Given the description of an element on the screen output the (x, y) to click on. 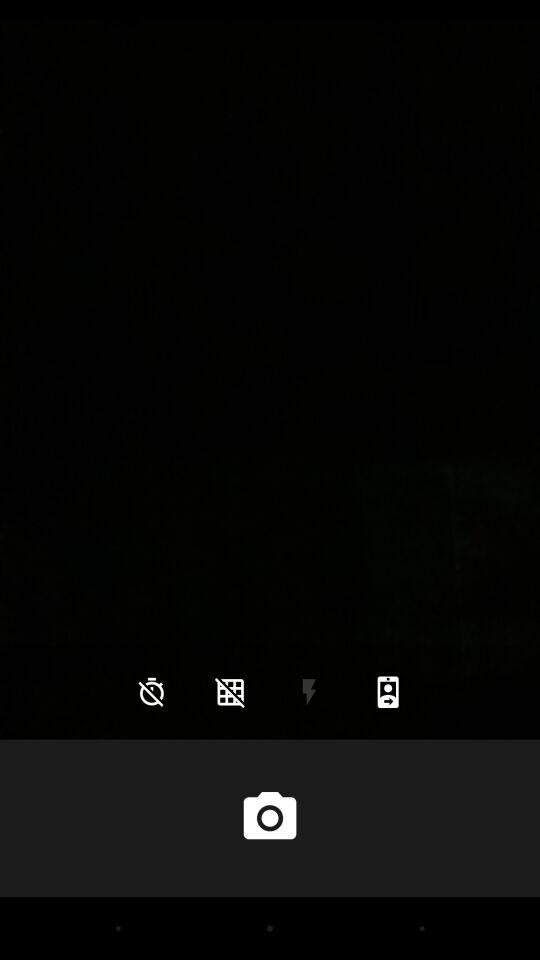
open the icon at the bottom left corner (151, 691)
